Given the description of an element on the screen output the (x, y) to click on. 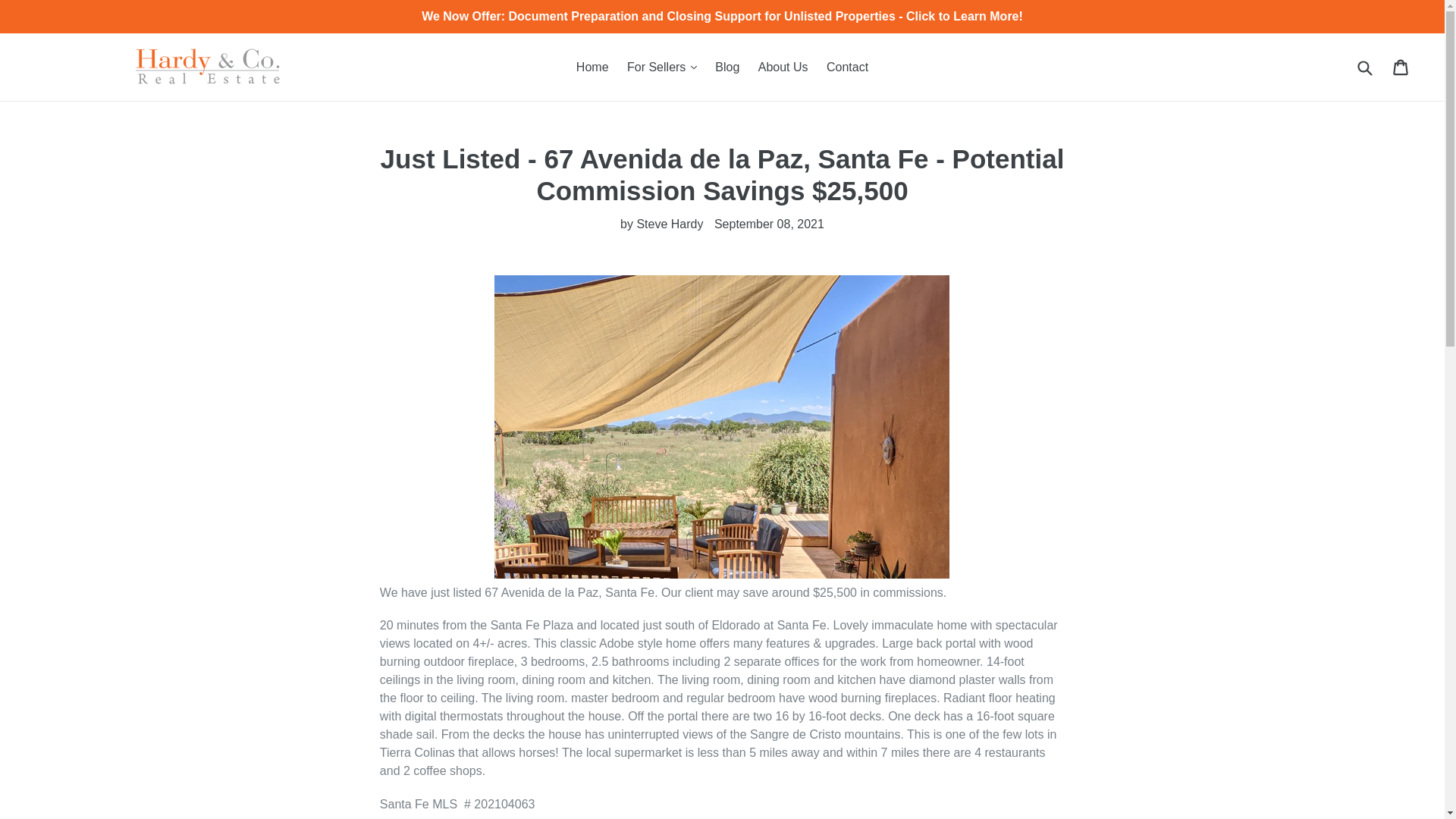
About Us (783, 67)
Blog (726, 67)
Contact (847, 67)
Home (592, 67)
